Given the description of an element on the screen output the (x, y) to click on. 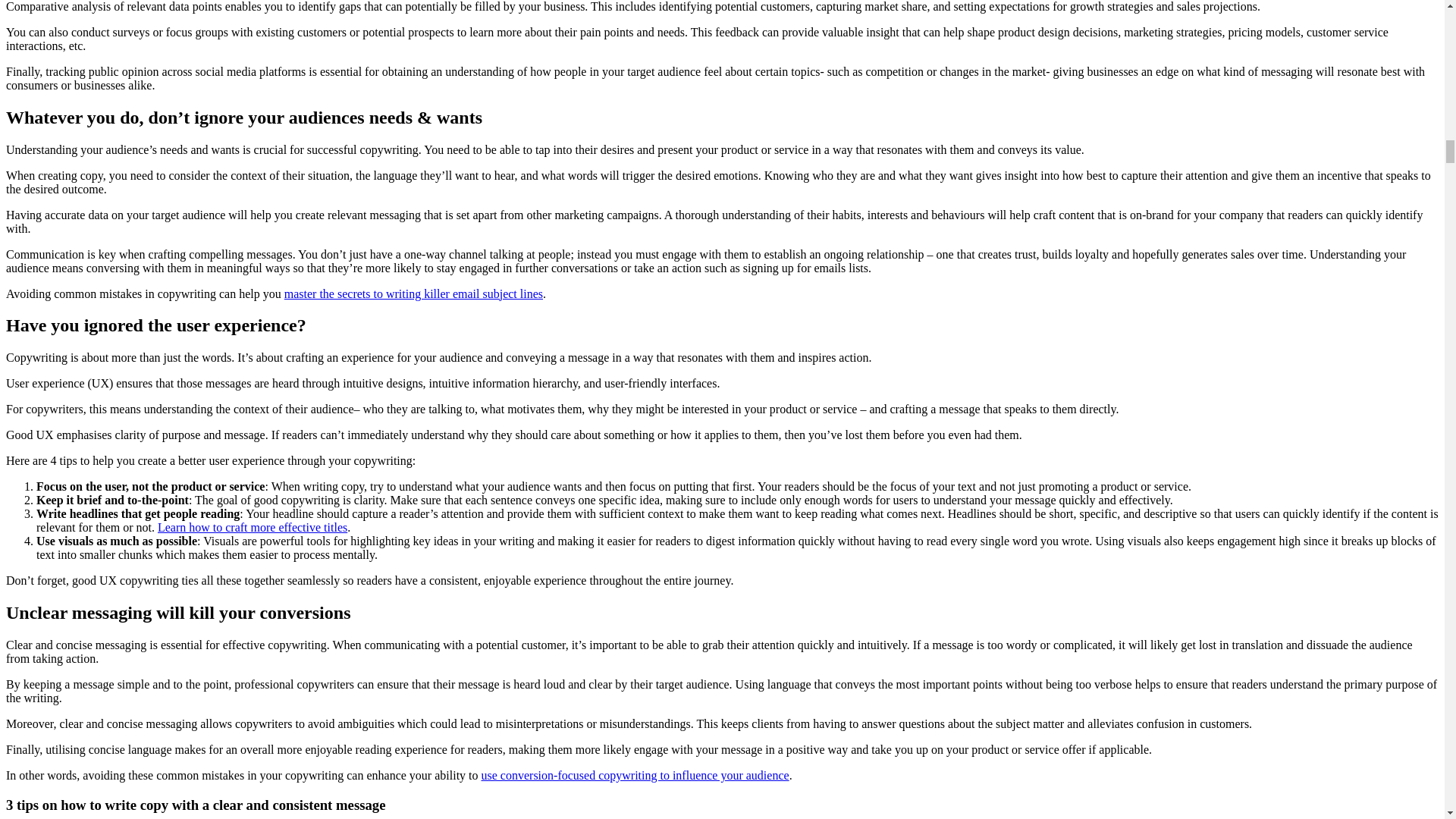
master the secrets to writing killer email subject lines (413, 292)
